Given the description of an element on the screen output the (x, y) to click on. 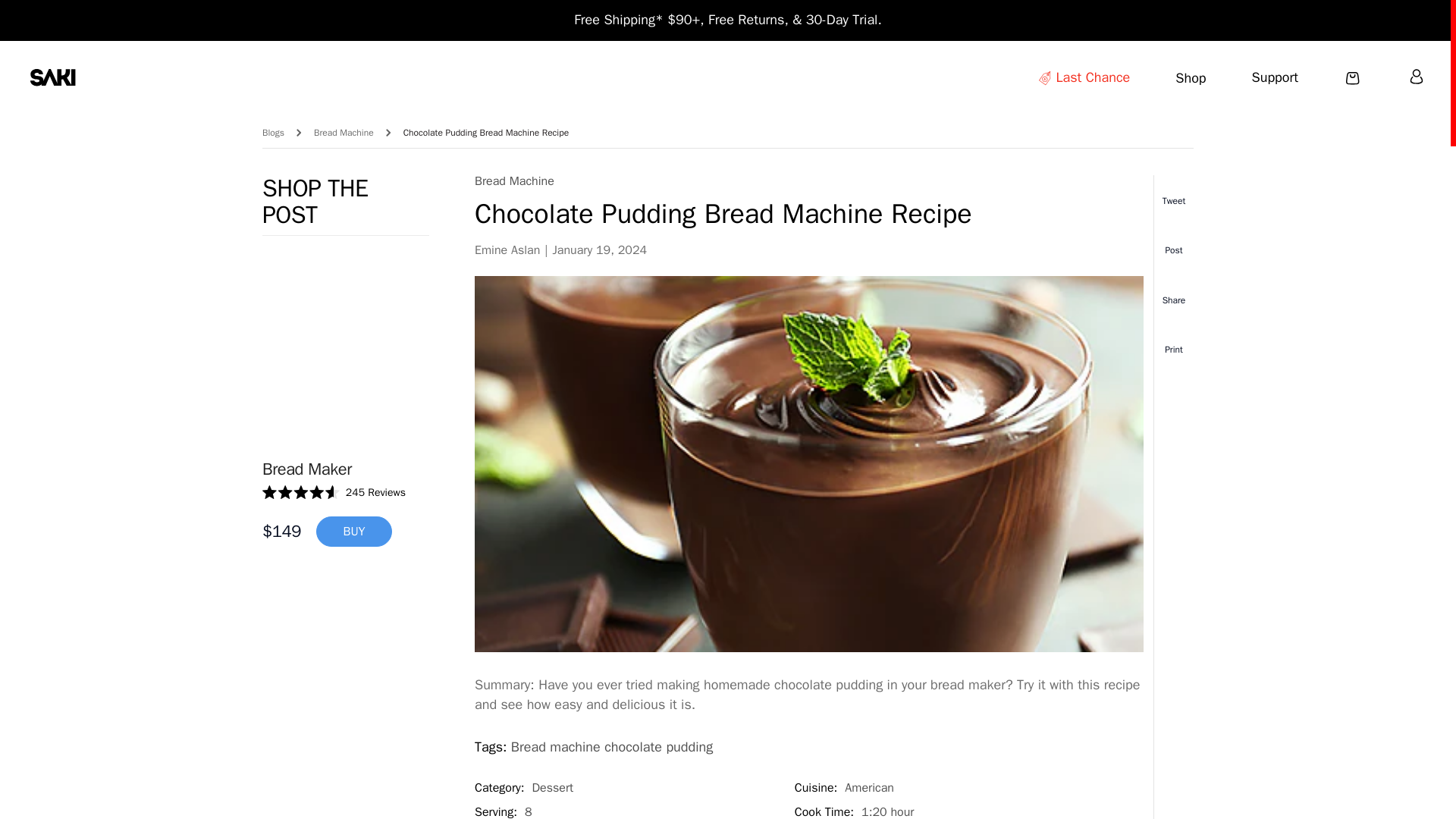
Last Chance (1082, 78)
Blogs (272, 132)
Bread machine (344, 132)
Blogs (272, 132)
Bread Machine (344, 132)
Home (52, 77)
Shop (1189, 78)
